Given the description of an element on the screen output the (x, y) to click on. 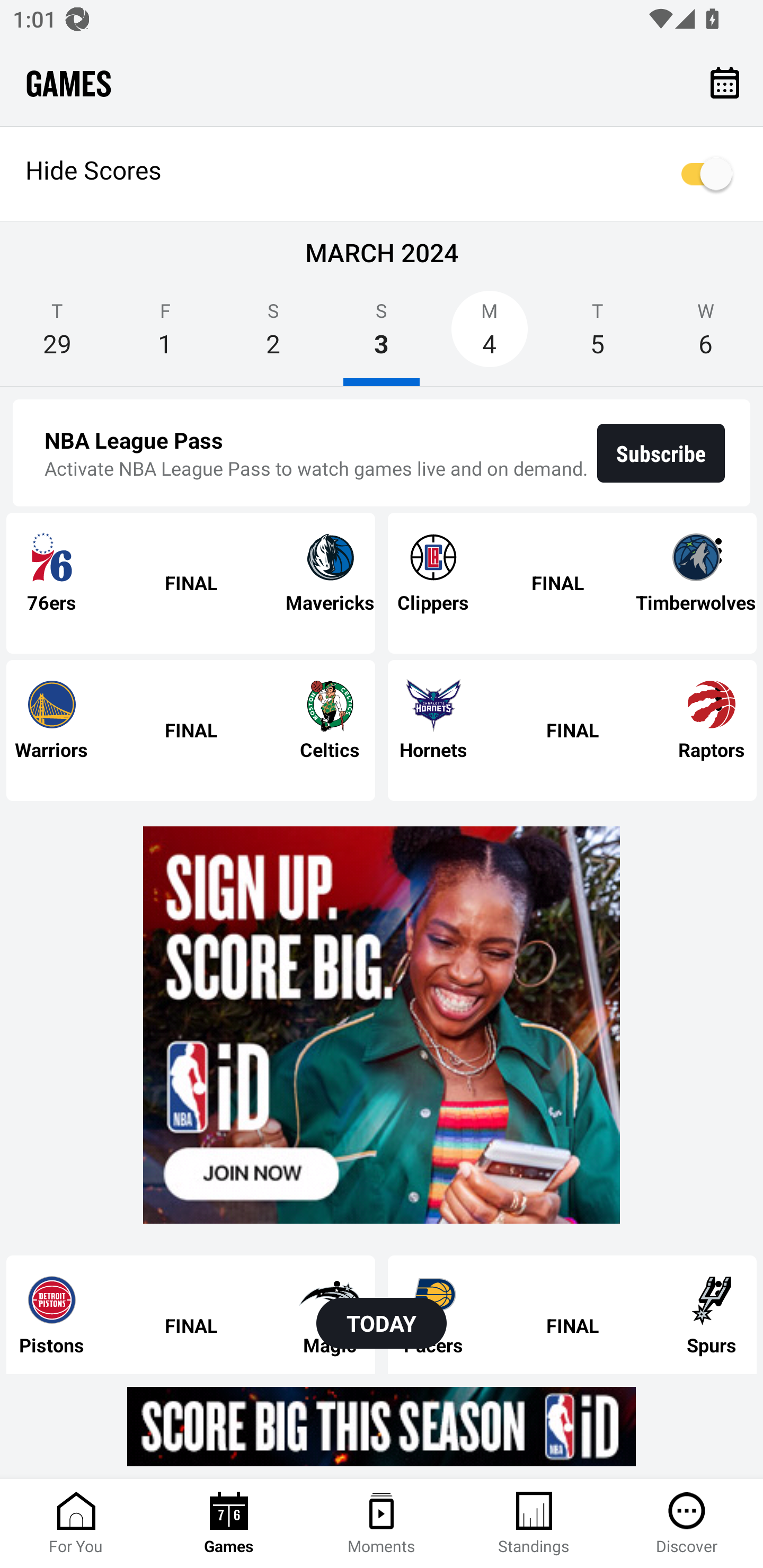
Calendar (724, 81)
Hide Scores (381, 174)
T 29 (57, 334)
F 1 (165, 334)
S 2 (273, 334)
S 3 (381, 334)
M 4 (489, 334)
T 5 (597, 334)
W 6 (705, 334)
Subscribe (660, 452)
Post Game - Pistons at Magic Pistons FINAL Magic (190, 1314)
Post Game - Pacers at Spurs Pacers FINAL Spurs (571, 1314)
TODAY (381, 1323)
For You (76, 1523)
Moments (381, 1523)
Standings (533, 1523)
Discover (686, 1523)
